Given the description of an element on the screen output the (x, y) to click on. 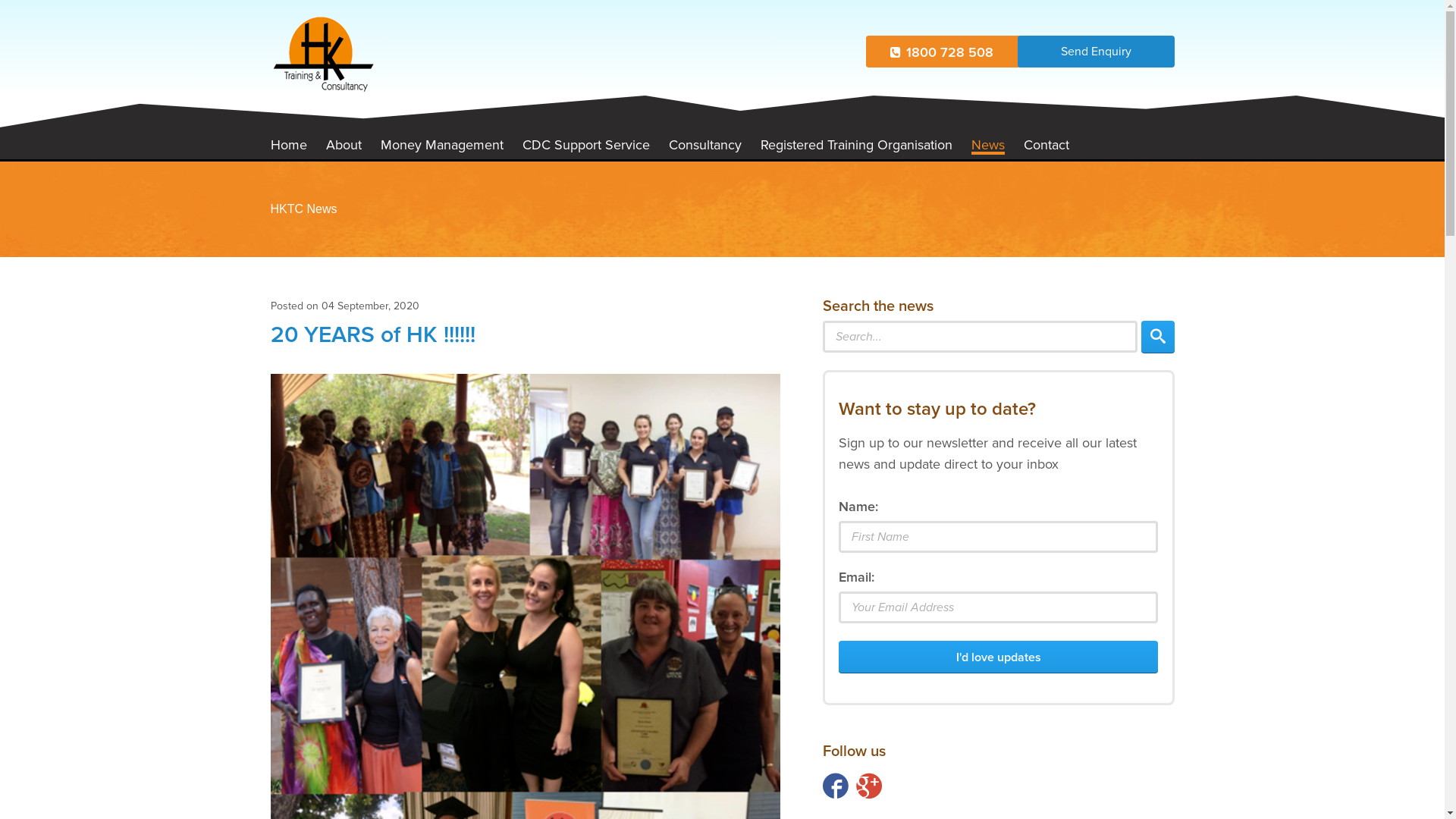
News Element type: text (987, 145)
About Element type: text (343, 144)
Money Management Element type: text (441, 144)
Registered Training Organisation Element type: text (855, 144)
I'd love updates Element type: text (997, 656)
Consultancy Element type: text (704, 144)
Home Element type: text (287, 144)
Send Enquiry Element type: text (1095, 51)
Google Plus Element type: hover (868, 785)
Contact Element type: text (1046, 144)
1800 728 508 Element type: text (941, 51)
HK Training and Consultancy (HKTC) Element type: hover (322, 54)
CDC Support Service Element type: text (585, 144)
Facebook Element type: hover (835, 785)
